Given the description of an element on the screen output the (x, y) to click on. 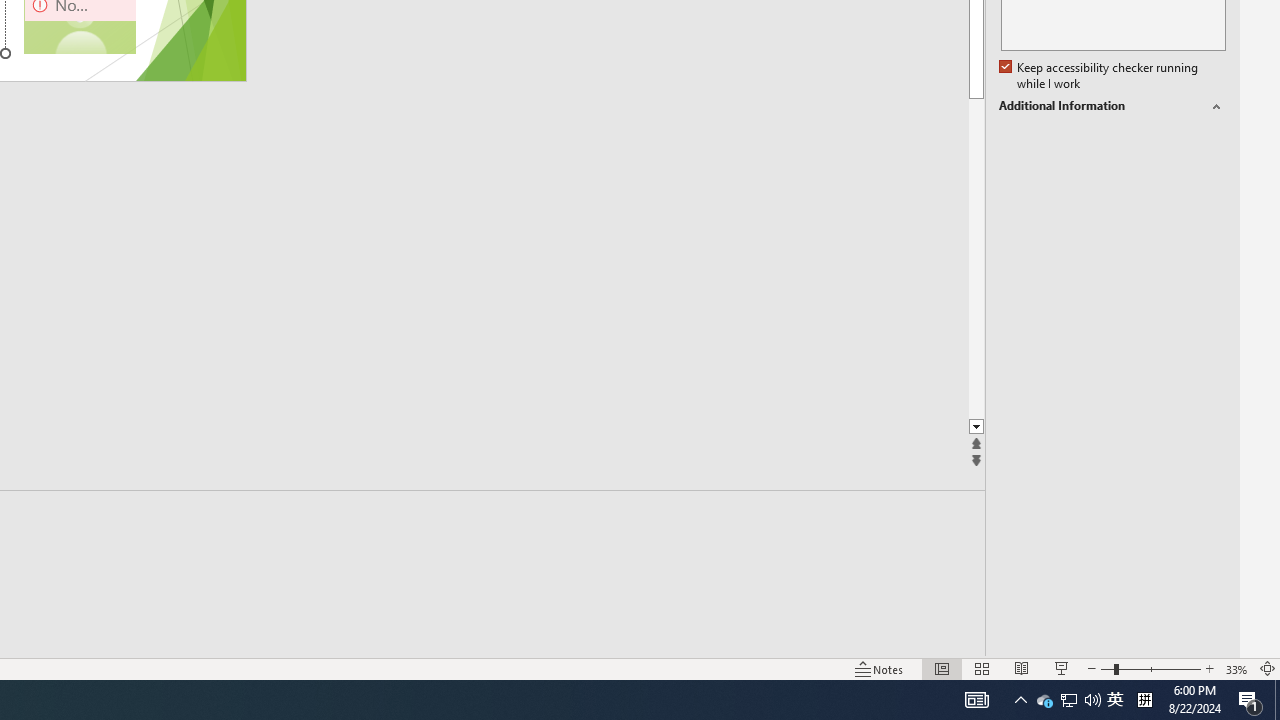
Zoom 33% (1236, 668)
